Given the description of an element on the screen output the (x, y) to click on. 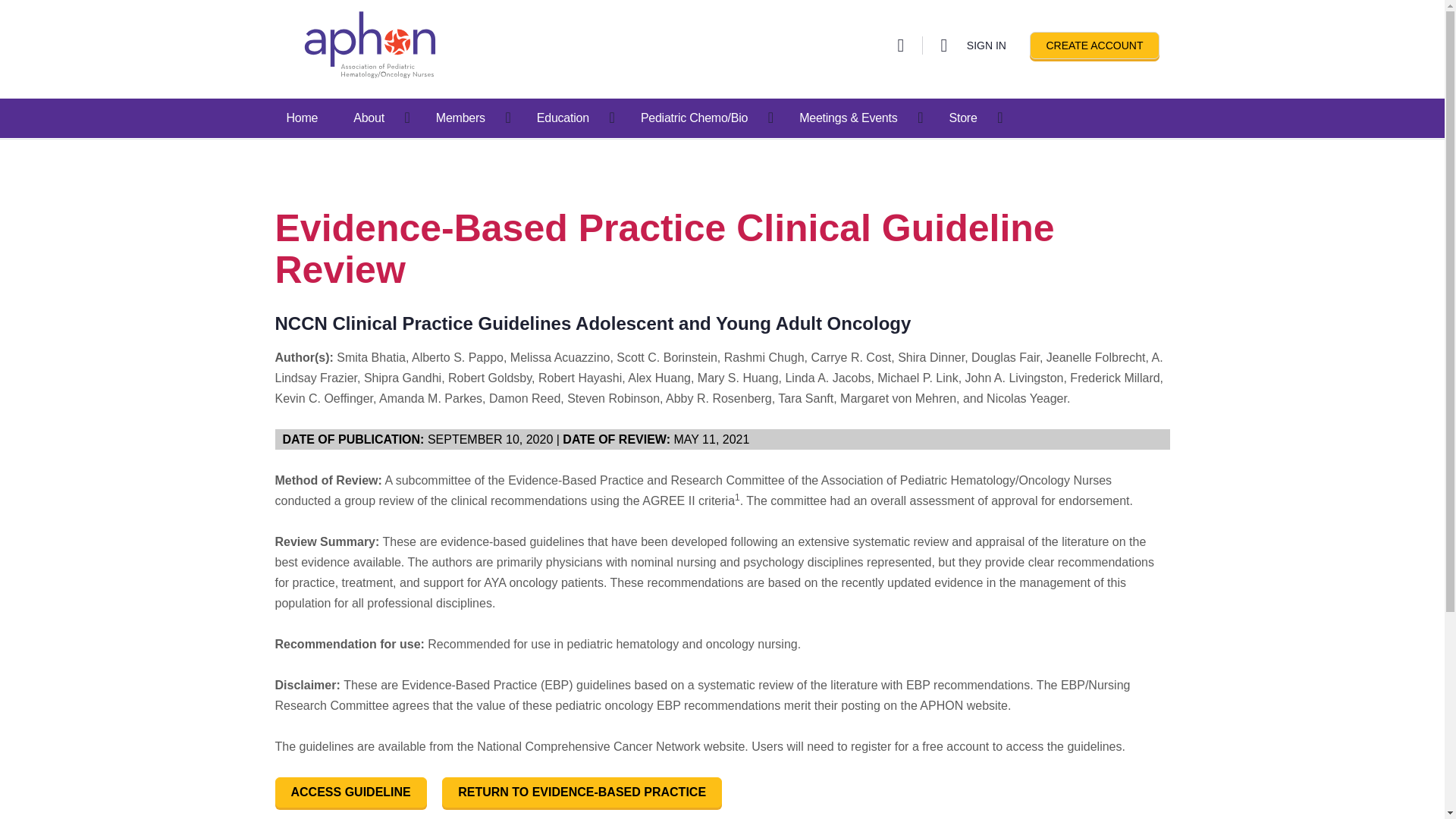
Education (562, 118)
SIGN IN (985, 45)
CREATE ACCOUNT (1093, 44)
Members (460, 118)
About (368, 118)
Home (302, 118)
